Given the description of an element on the screen output the (x, y) to click on. 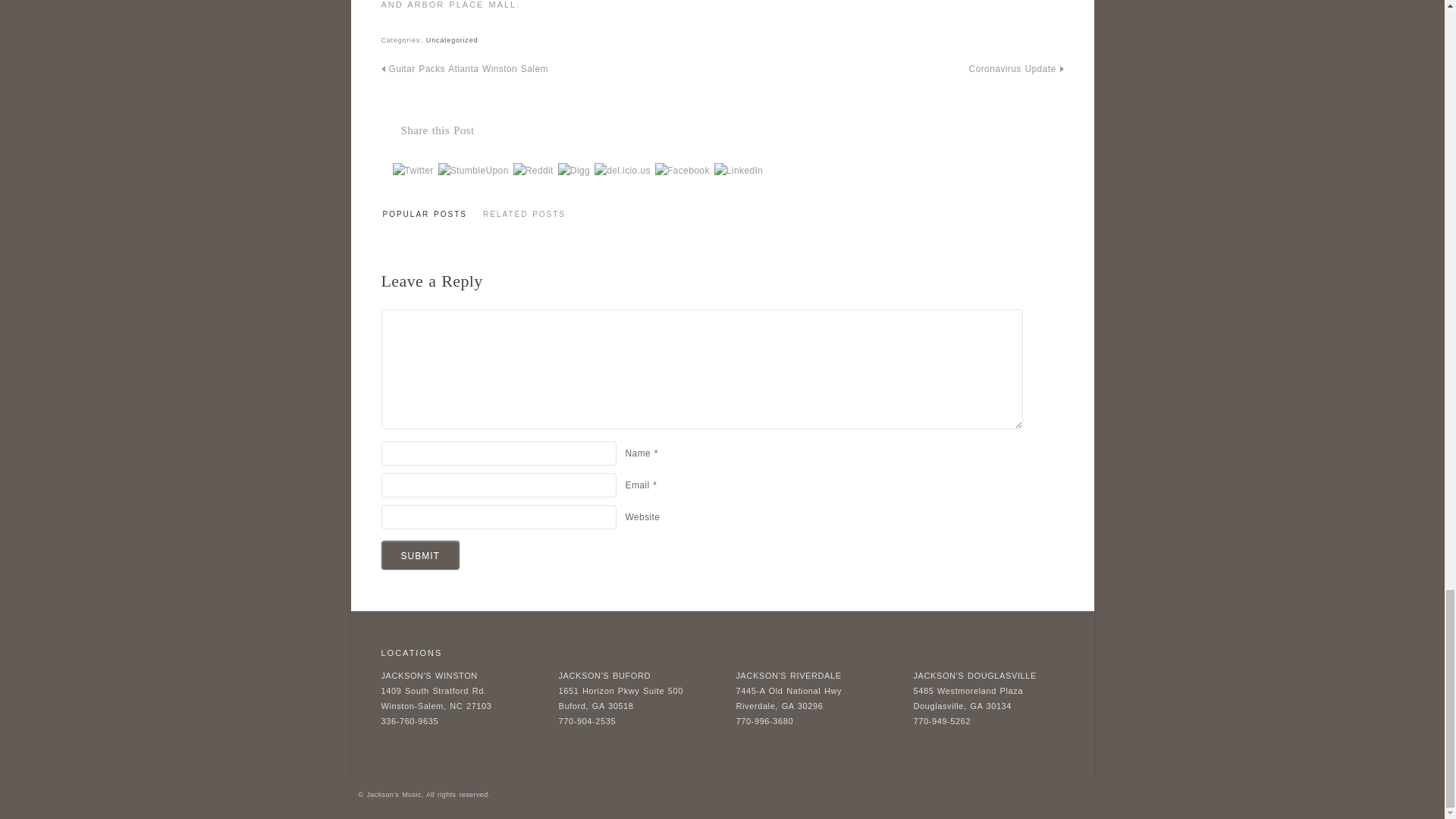
Uncategorized (451, 40)
Guitar Packs Atlanta Winston Salem (463, 68)
Coronavirus Update (1016, 68)
Submit (419, 554)
